Given the description of an element on the screen output the (x, y) to click on. 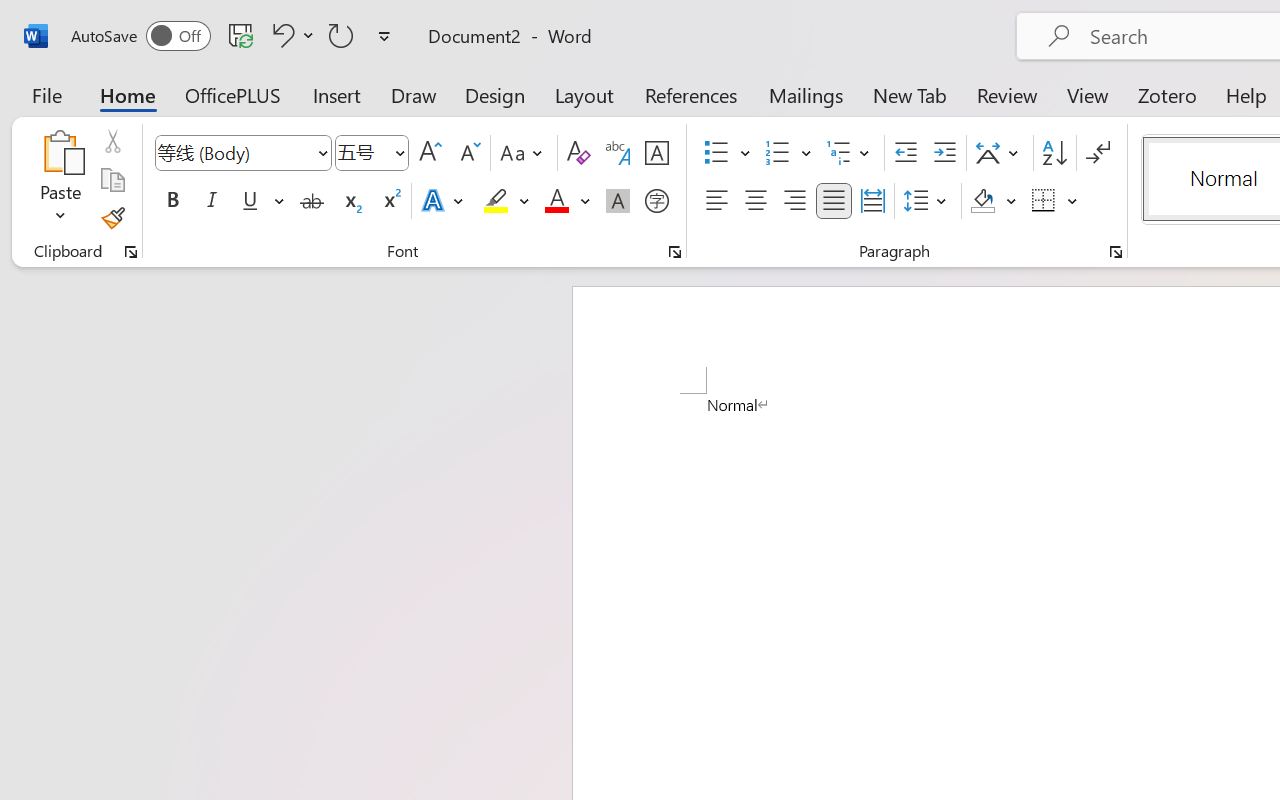
Numbering (778, 153)
Align Left (716, 201)
Decrease Indent (906, 153)
View (1087, 94)
Justify (834, 201)
Show/Hide Editing Marks (1098, 153)
Cut (112, 141)
Shrink Font (468, 153)
Paste (60, 179)
Copy (112, 179)
Font Color (567, 201)
More Options (1073, 201)
Font Size (362, 152)
Line and Paragraph Spacing (927, 201)
